Given the description of an element on the screen output the (x, y) to click on. 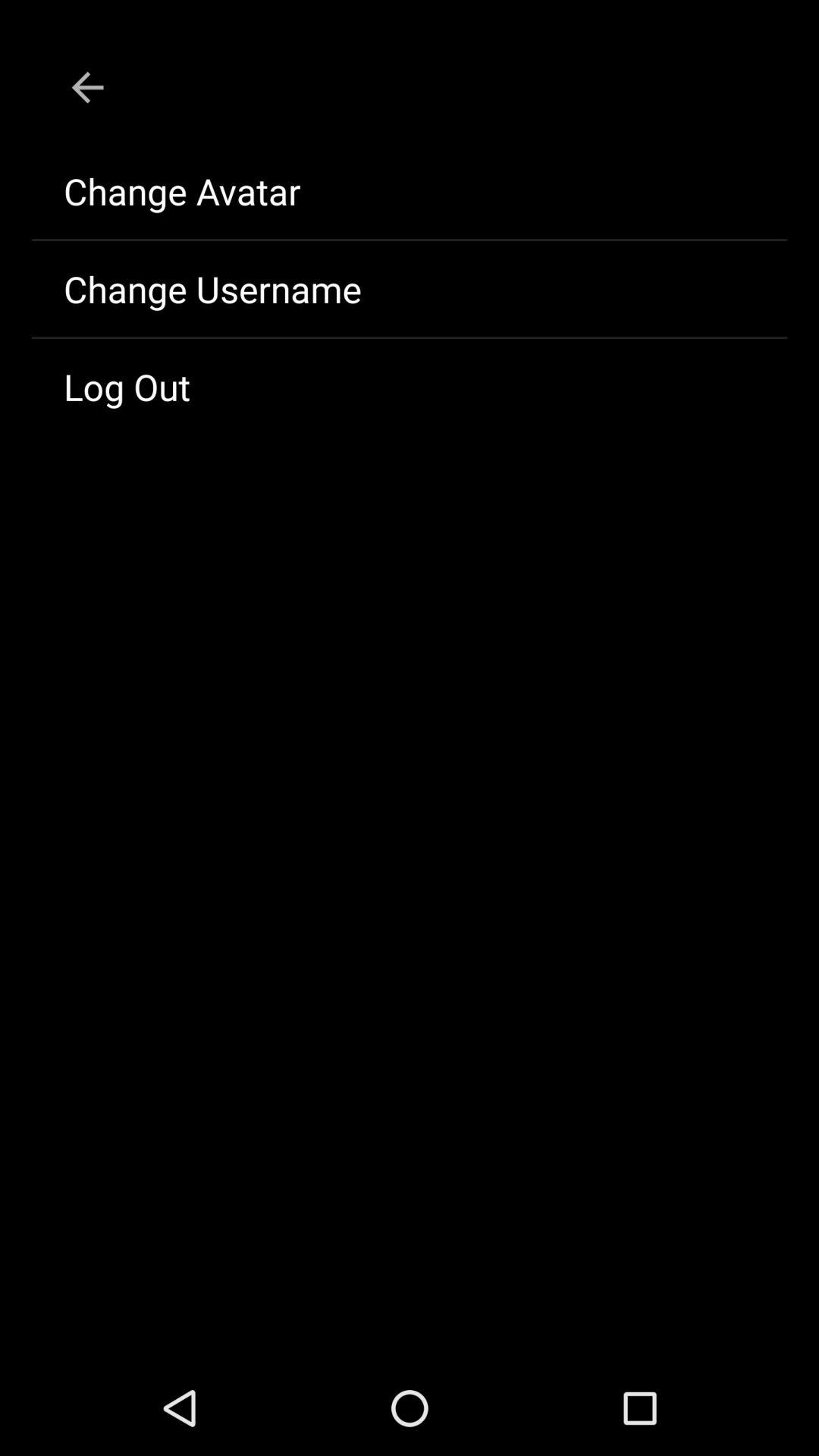
select the icon at the top left corner (87, 87)
